Given the description of an element on the screen output the (x, y) to click on. 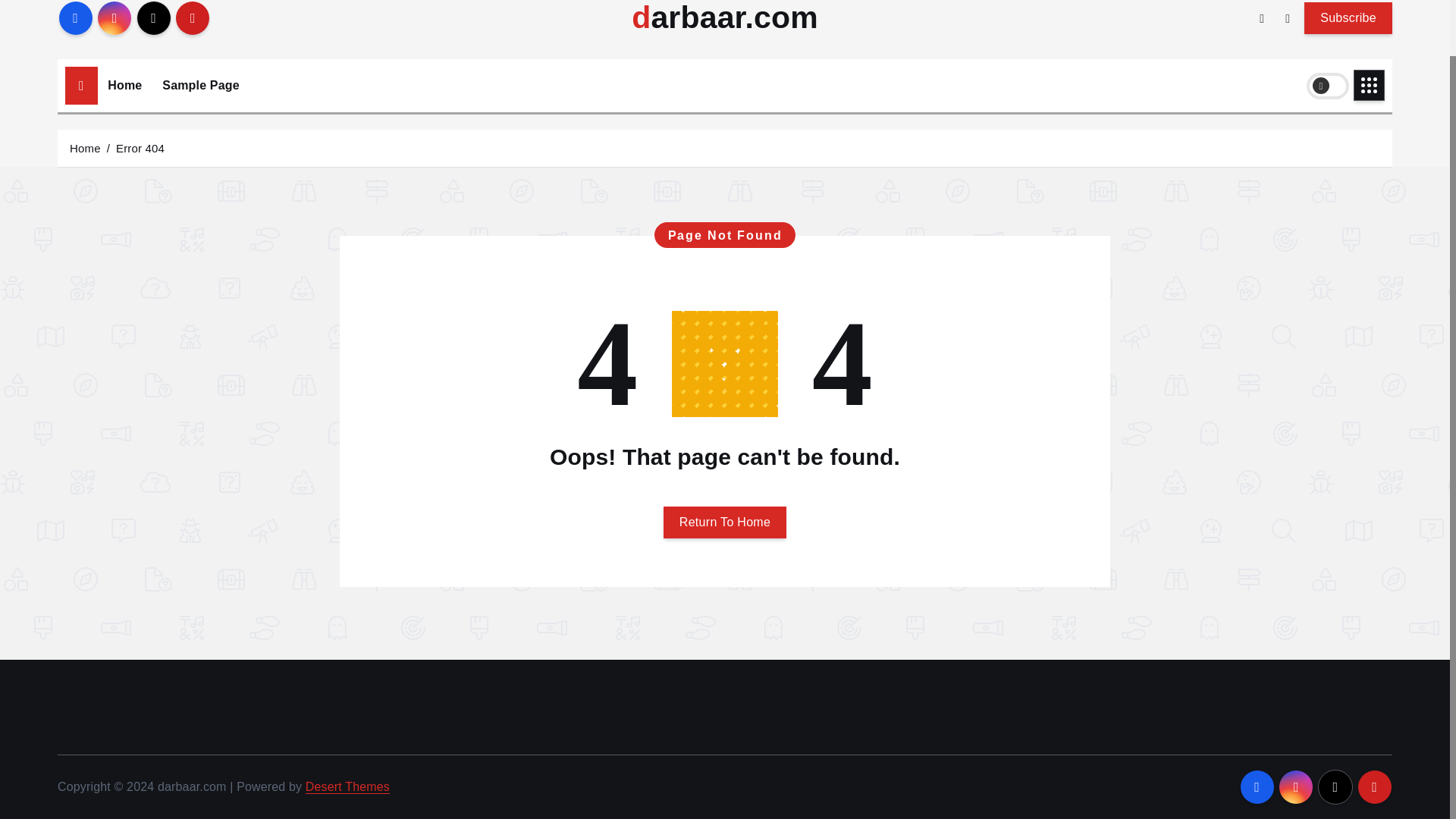
Desert Themes (347, 786)
darbaar.com (724, 17)
Subscribe (1347, 17)
Return To Home (724, 522)
Error 404 (140, 146)
Home (124, 85)
Home (124, 85)
Sample Page (200, 85)
Home (84, 146)
